Given the description of an element on the screen output the (x, y) to click on. 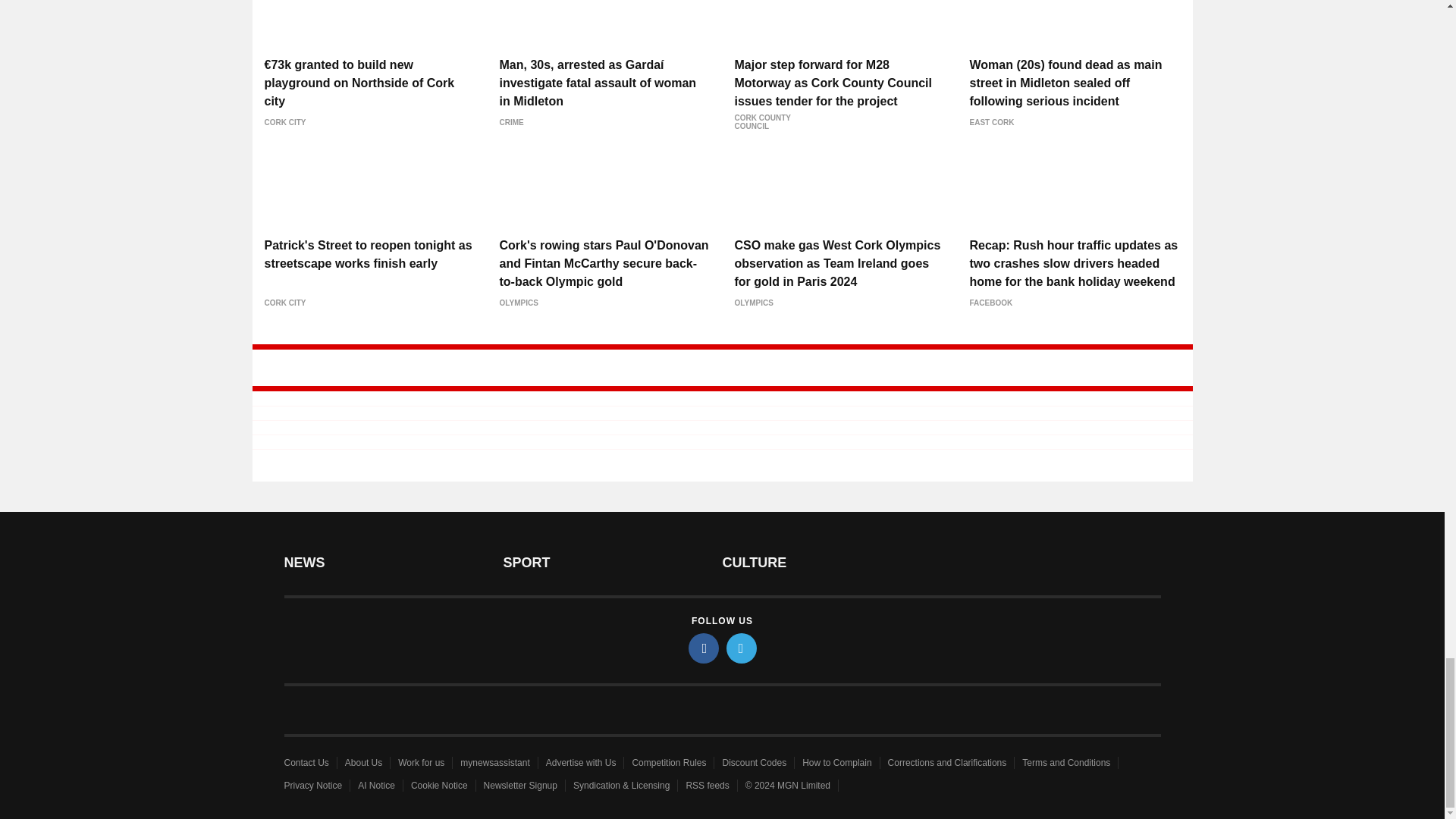
facebook (703, 648)
twitter (741, 648)
